Given the description of an element on the screen output the (x, y) to click on. 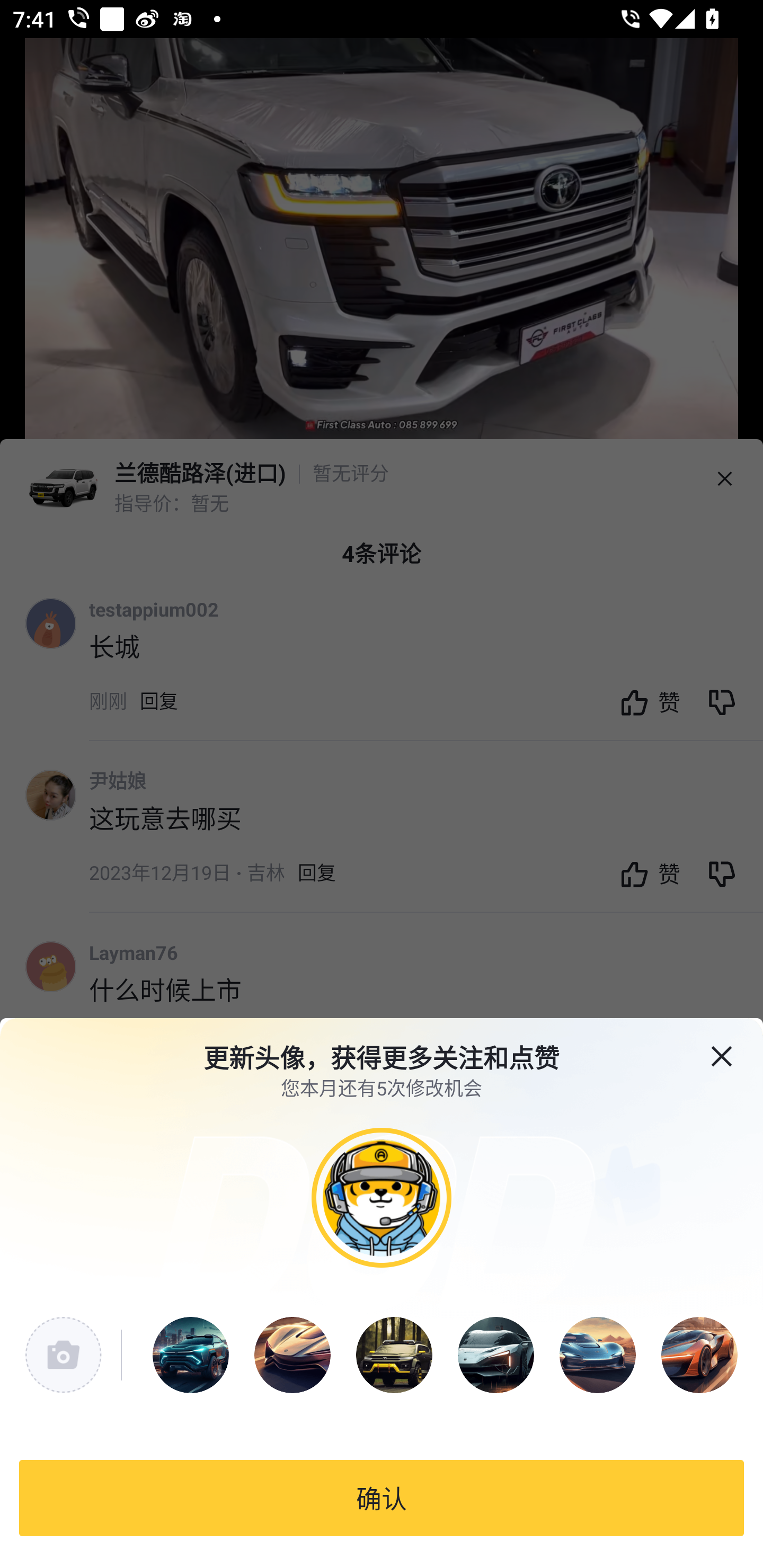
 (734, 1044)
确认 (381, 1497)
